Given the description of an element on the screen output the (x, y) to click on. 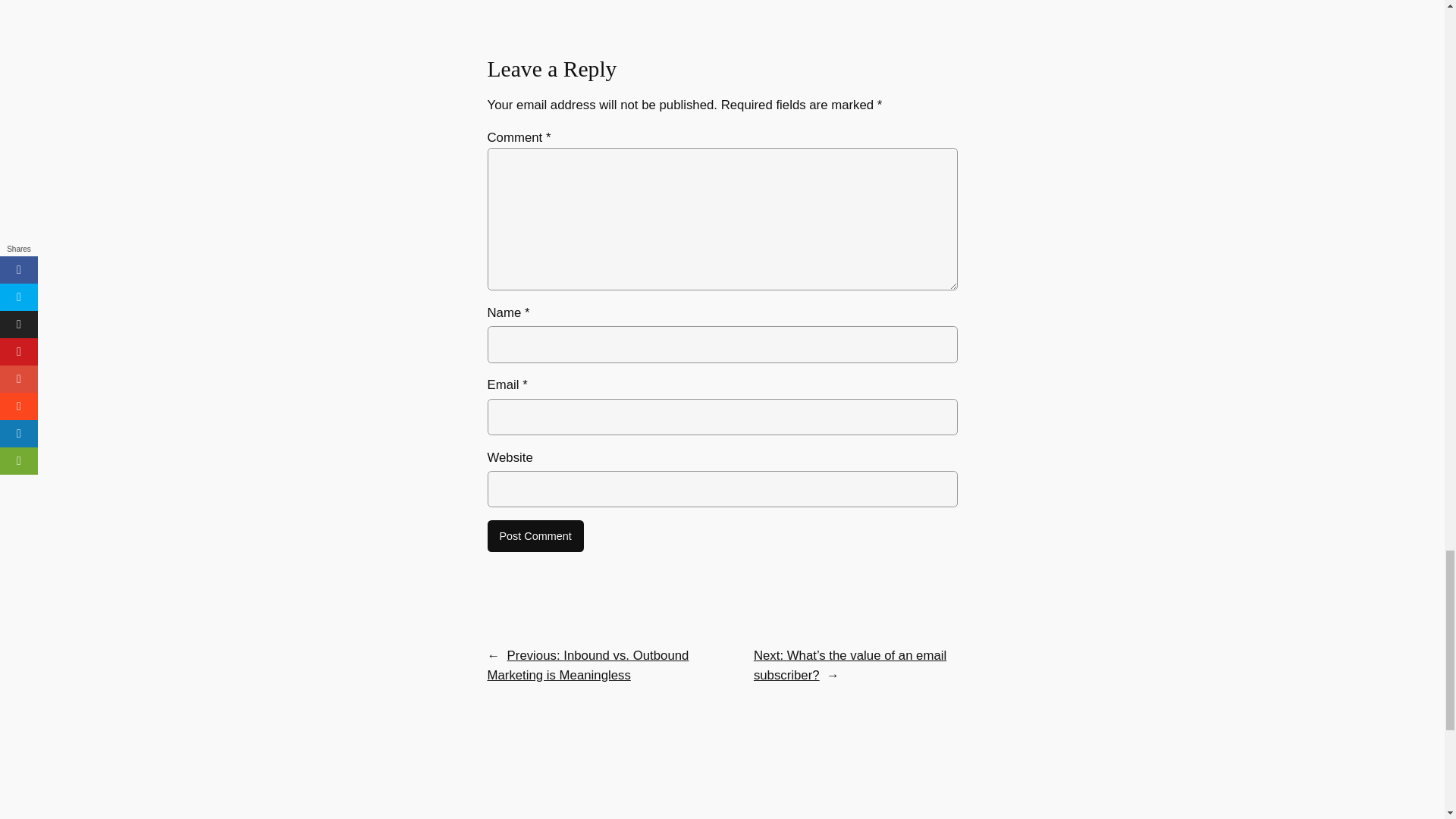
Previous: Inbound vs. Outbound Marketing is Meaningless (587, 665)
Post Comment (534, 536)
Post Comment (534, 536)
